Given the description of an element on the screen output the (x, y) to click on. 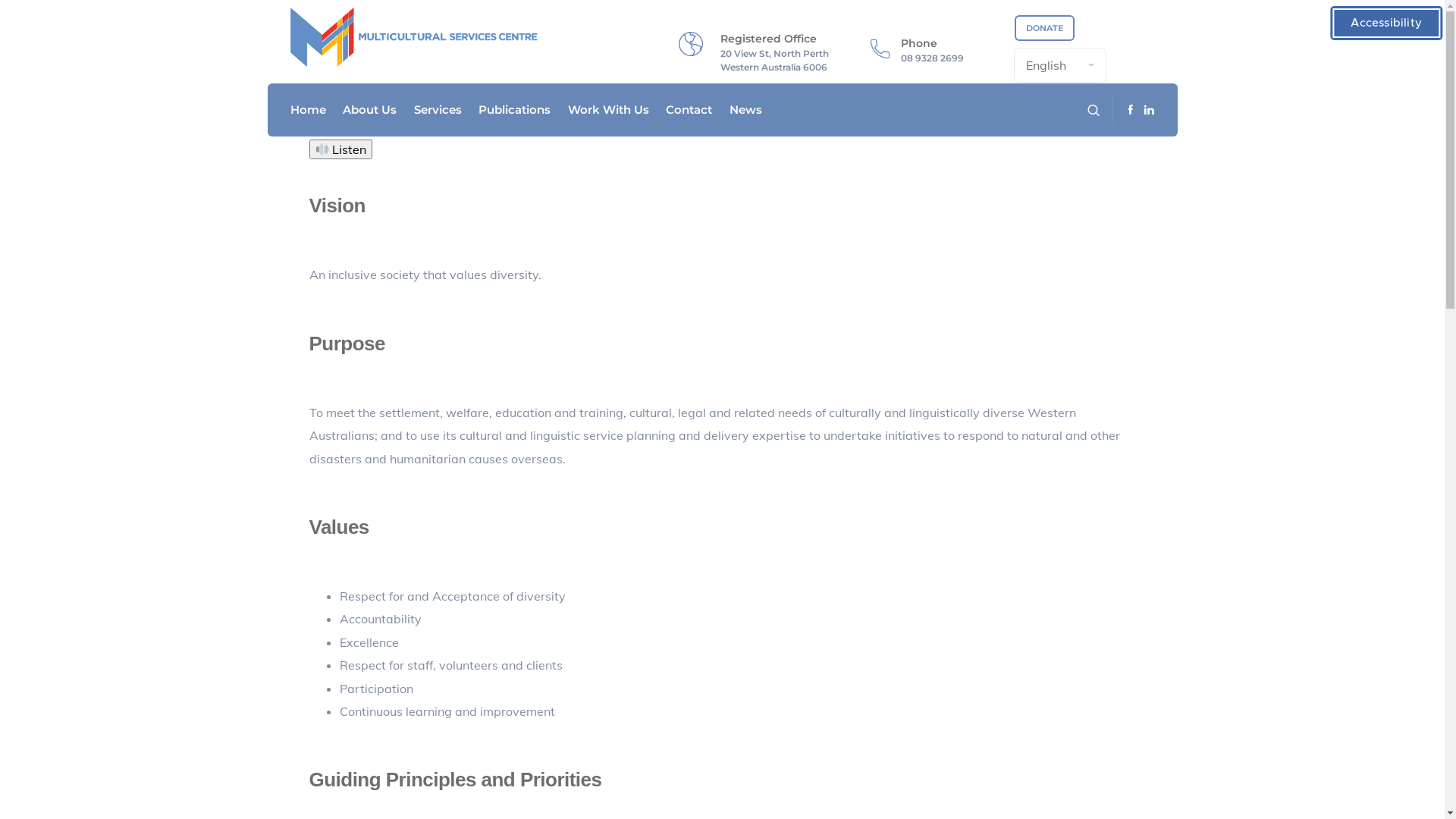
Publications Element type: text (514, 109)
About Us Element type: text (369, 109)
Listen Element type: text (340, 149)
Home Element type: text (307, 109)
News Element type: text (745, 109)
DONATE Element type: text (1044, 27)
Work With Us Element type: text (607, 109)
Search Element type: text (455, 16)
Services Element type: text (437, 109)
Contact Element type: text (688, 109)
